Given the description of an element on the screen output the (x, y) to click on. 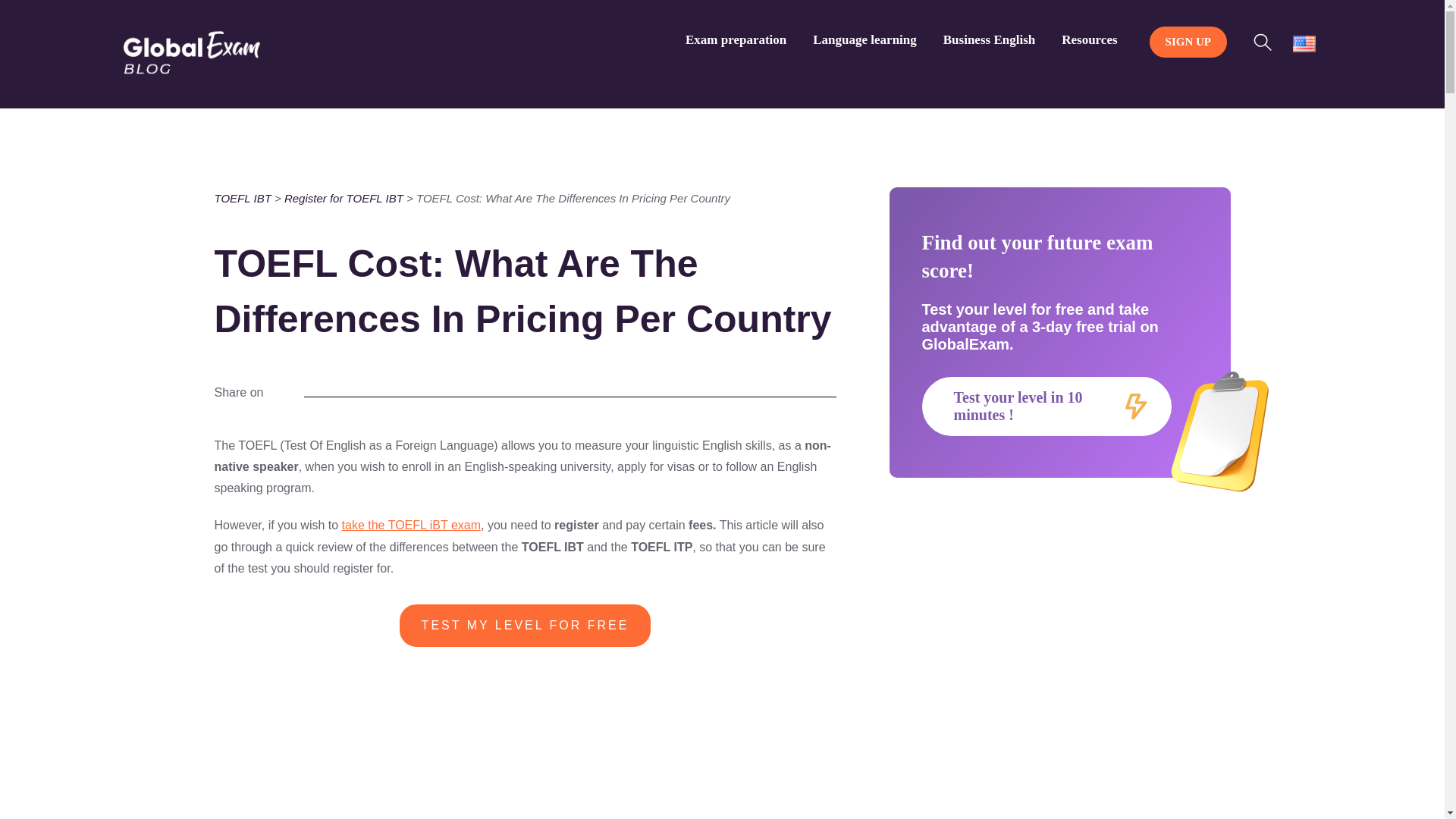
SIGN UP (1187, 41)
Exam preparation (735, 39)
Business English (989, 39)
TEST MY LEVEL FOR FREE (524, 636)
Language learning (864, 39)
Resources (1089, 39)
TOEFL Exam Fee: How Much Does The TOEFL Cost? (744, 756)
Search (1265, 39)
